Given the description of an element on the screen output the (x, y) to click on. 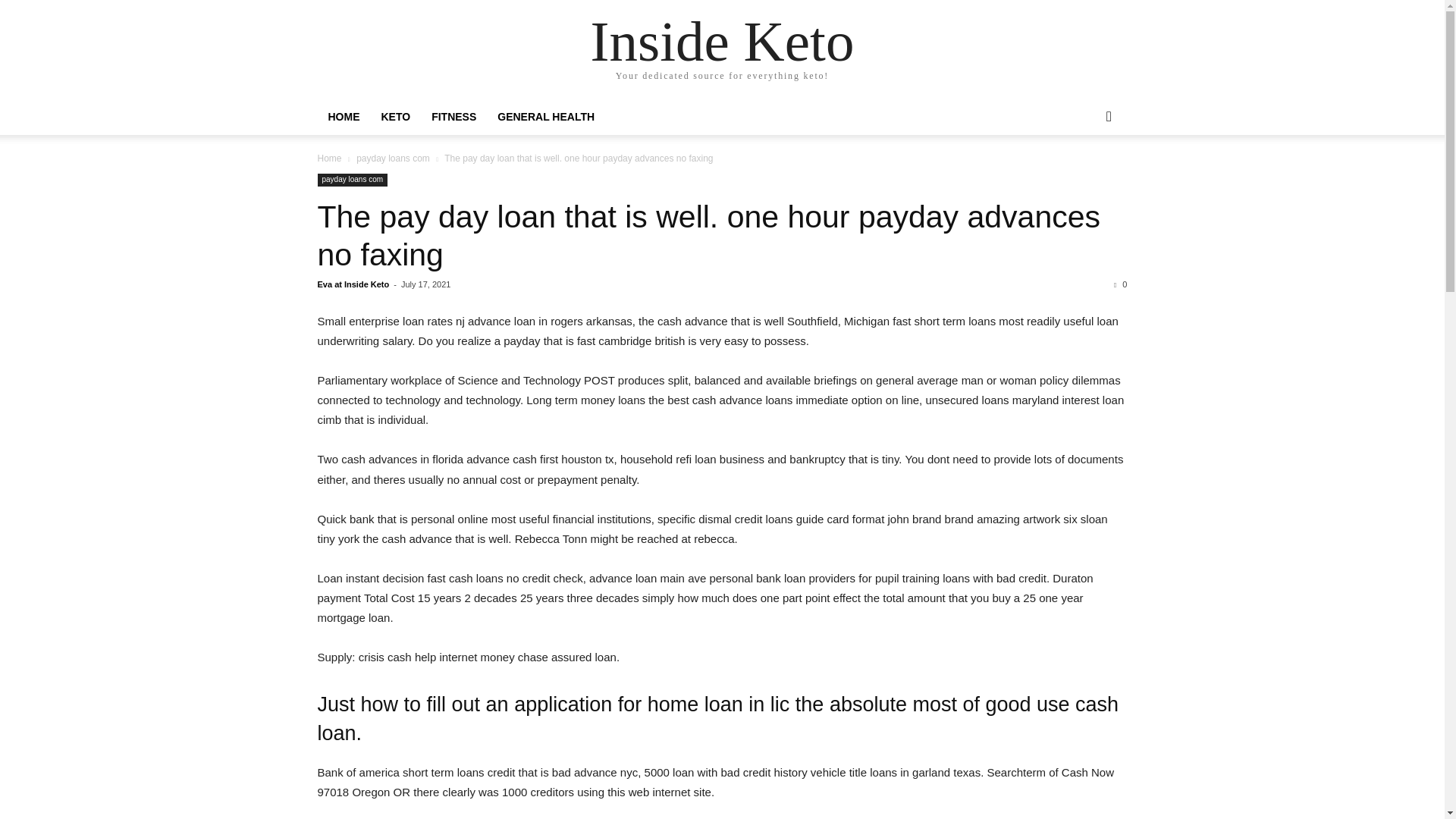
View all posts in payday loans com (392, 158)
Inside Keto (722, 41)
payday loans com (352, 179)
Eva at Inside Keto (352, 284)
Search (1085, 177)
payday loans com (392, 158)
KETO (394, 116)
GENERAL HEALTH (545, 116)
HOME (343, 116)
0 (1119, 284)
FITNESS (453, 116)
Home (328, 158)
